Given the description of an element on the screen output the (x, y) to click on. 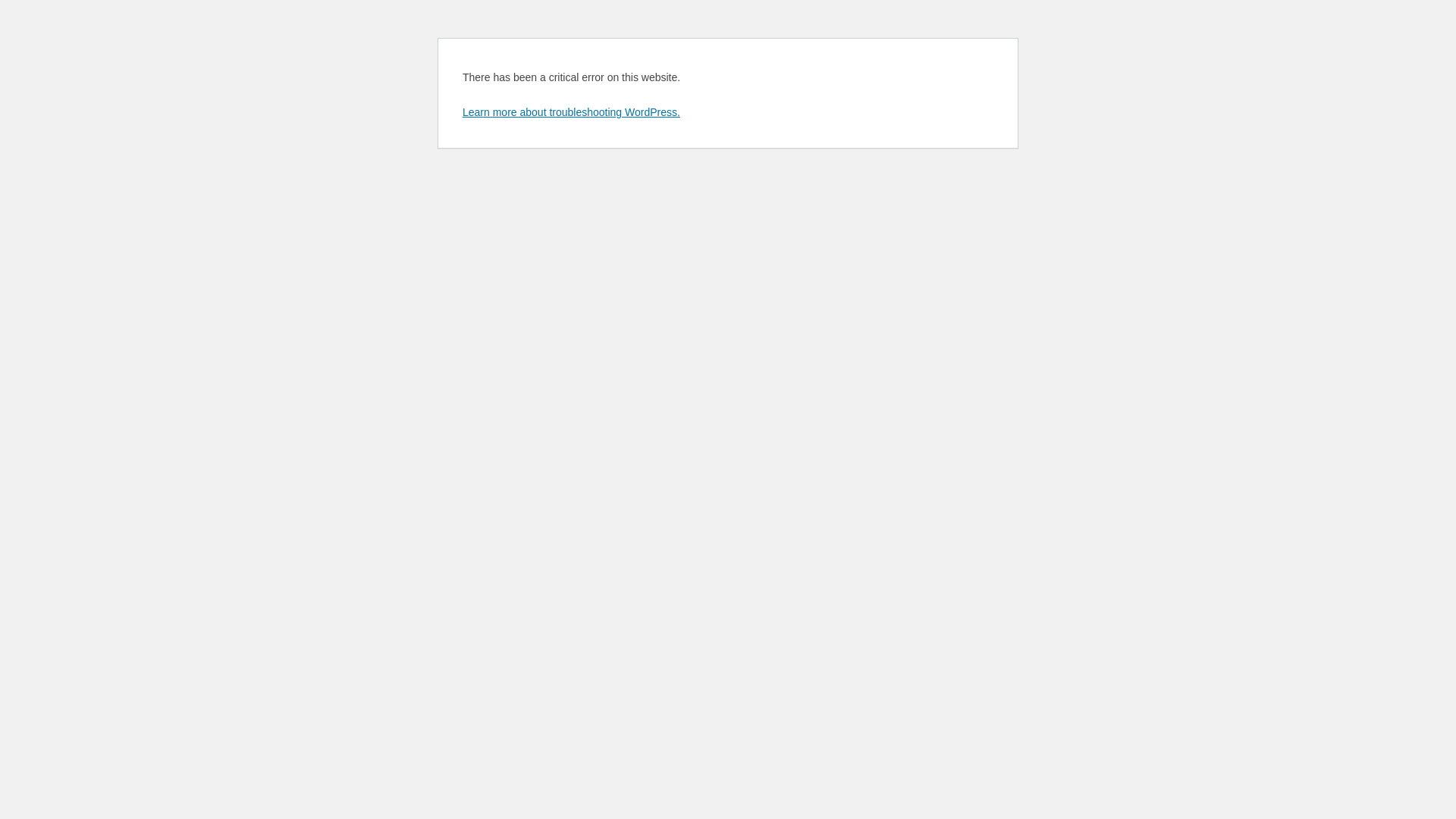
Learn more about troubleshooting WordPress. Element type: text (571, 112)
